Given the description of an element on the screen output the (x, y) to click on. 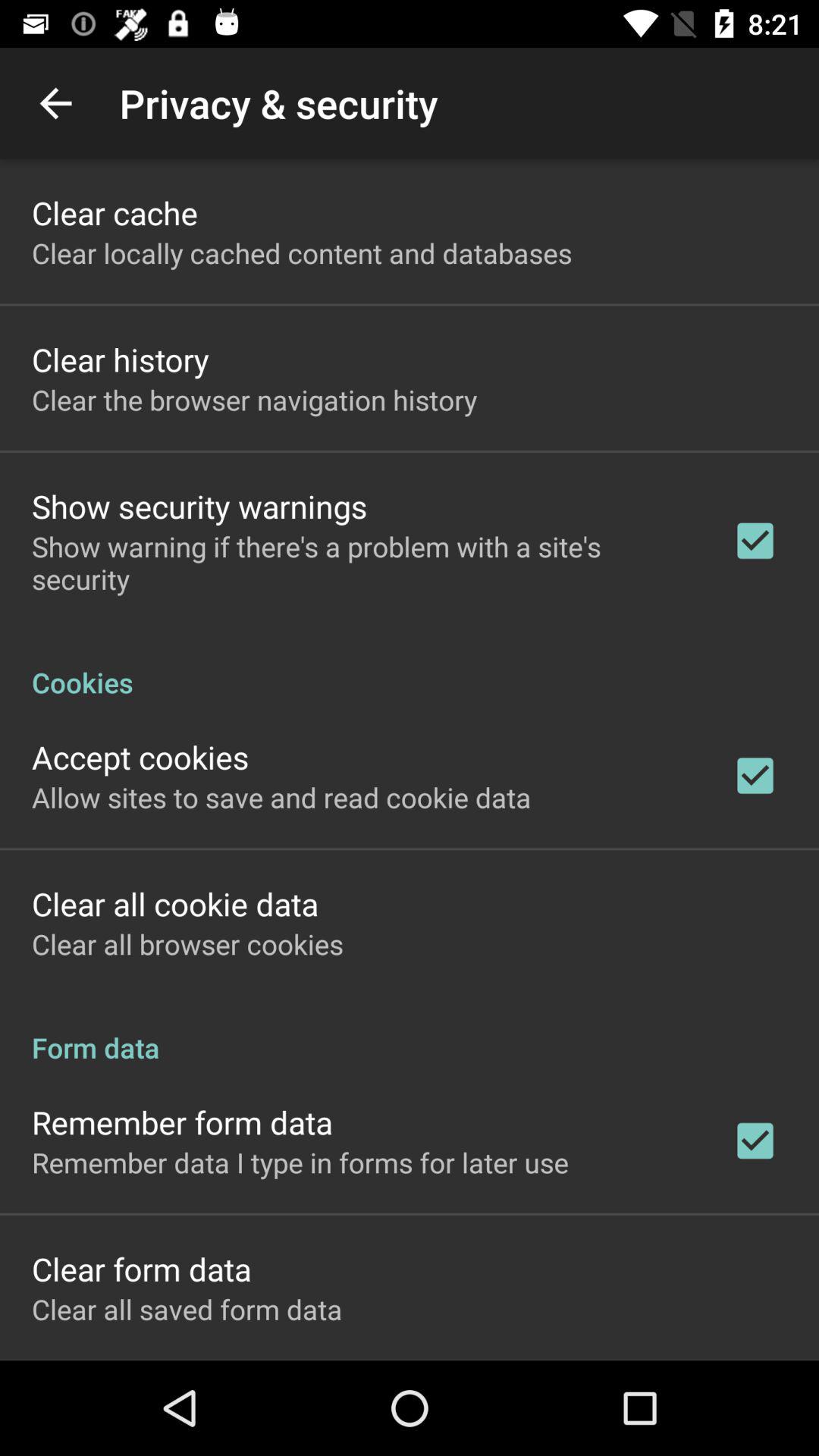
press the clear cache (114, 212)
